Given the description of an element on the screen output the (x, y) to click on. 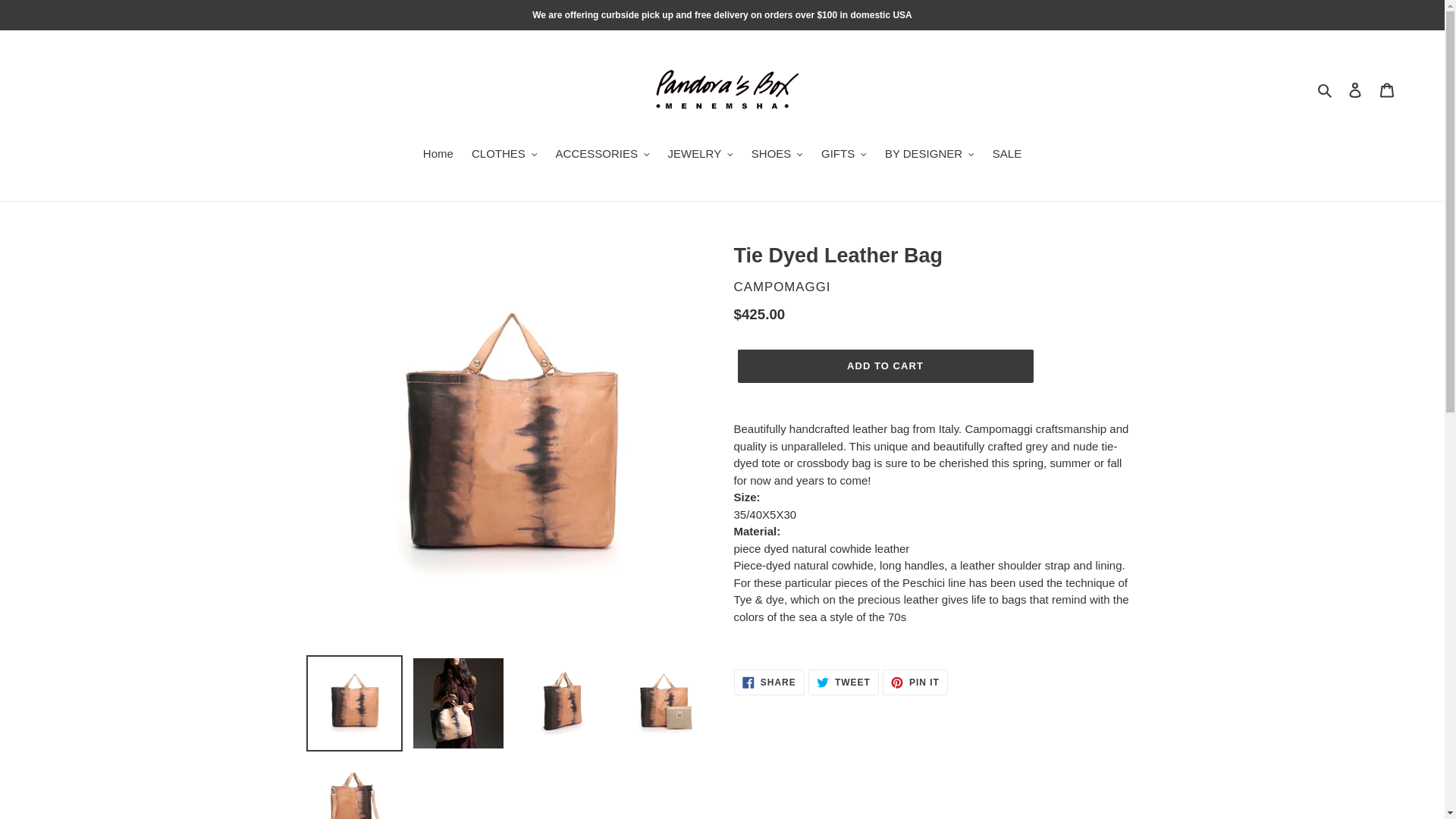
Cart (1387, 89)
Search (1326, 89)
Log in (1355, 89)
